Given the description of an element on the screen output the (x, y) to click on. 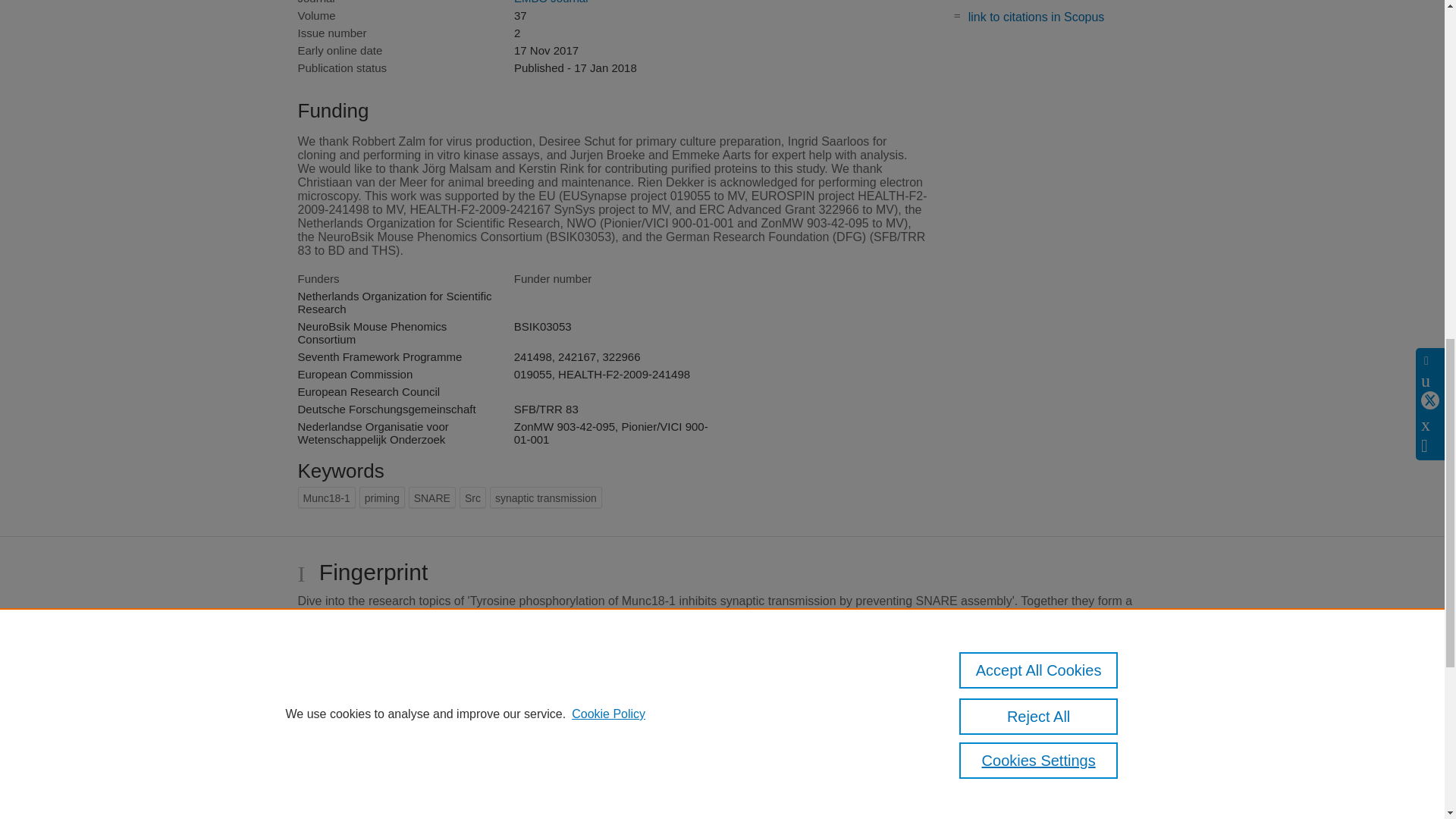
link to citations in Scopus (1036, 16)
View full fingerprint (722, 763)
EMBO Journal (550, 2)
